Given the description of an element on the screen output the (x, y) to click on. 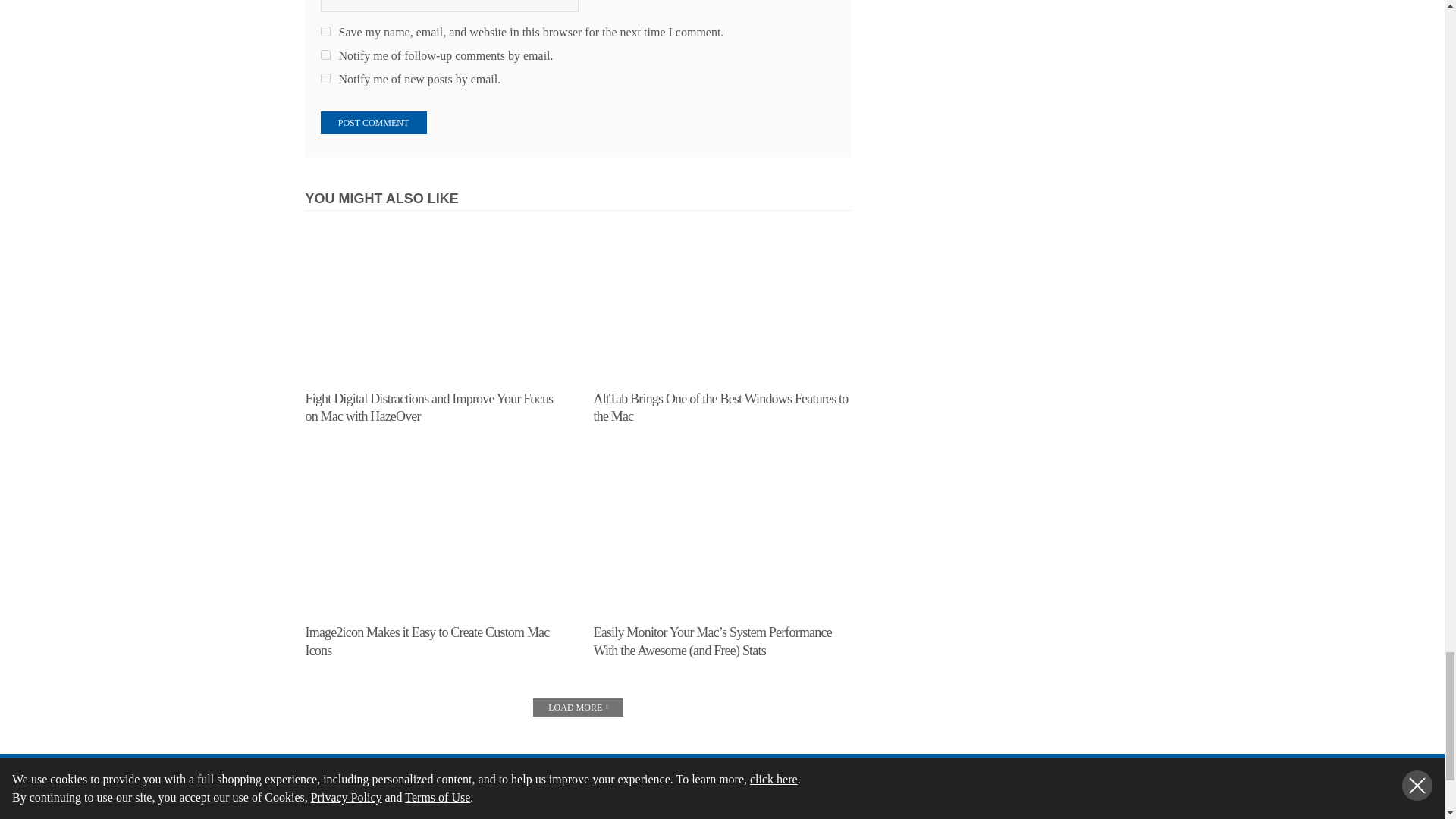
subscribe (325, 78)
subscribe (325, 54)
Post Comment (373, 122)
yes (325, 31)
